Given the description of an element on the screen output the (x, y) to click on. 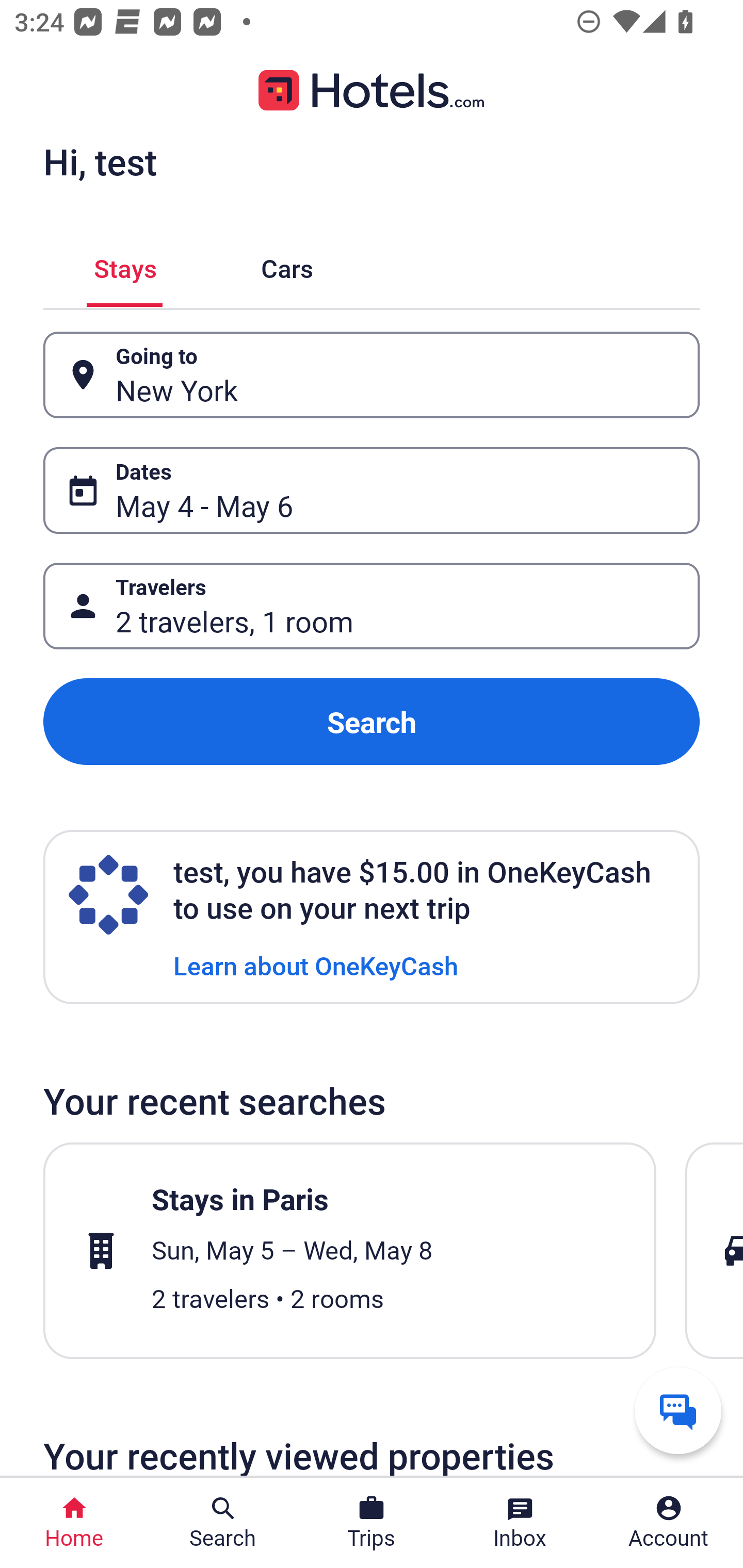
Hi, test (99, 161)
Cars (286, 265)
Going to Button New York (371, 375)
Dates Button May 4 - May 6 (371, 489)
Travelers Button 2 travelers, 1 room (371, 605)
Search (371, 721)
Learn about OneKeyCash Learn about OneKeyCash Link (315, 964)
Get help from a virtual agent (677, 1410)
Search Search Button (222, 1522)
Trips Trips Button (371, 1522)
Inbox Inbox Button (519, 1522)
Account Profile. Button (668, 1522)
